Given the description of an element on the screen output the (x, y) to click on. 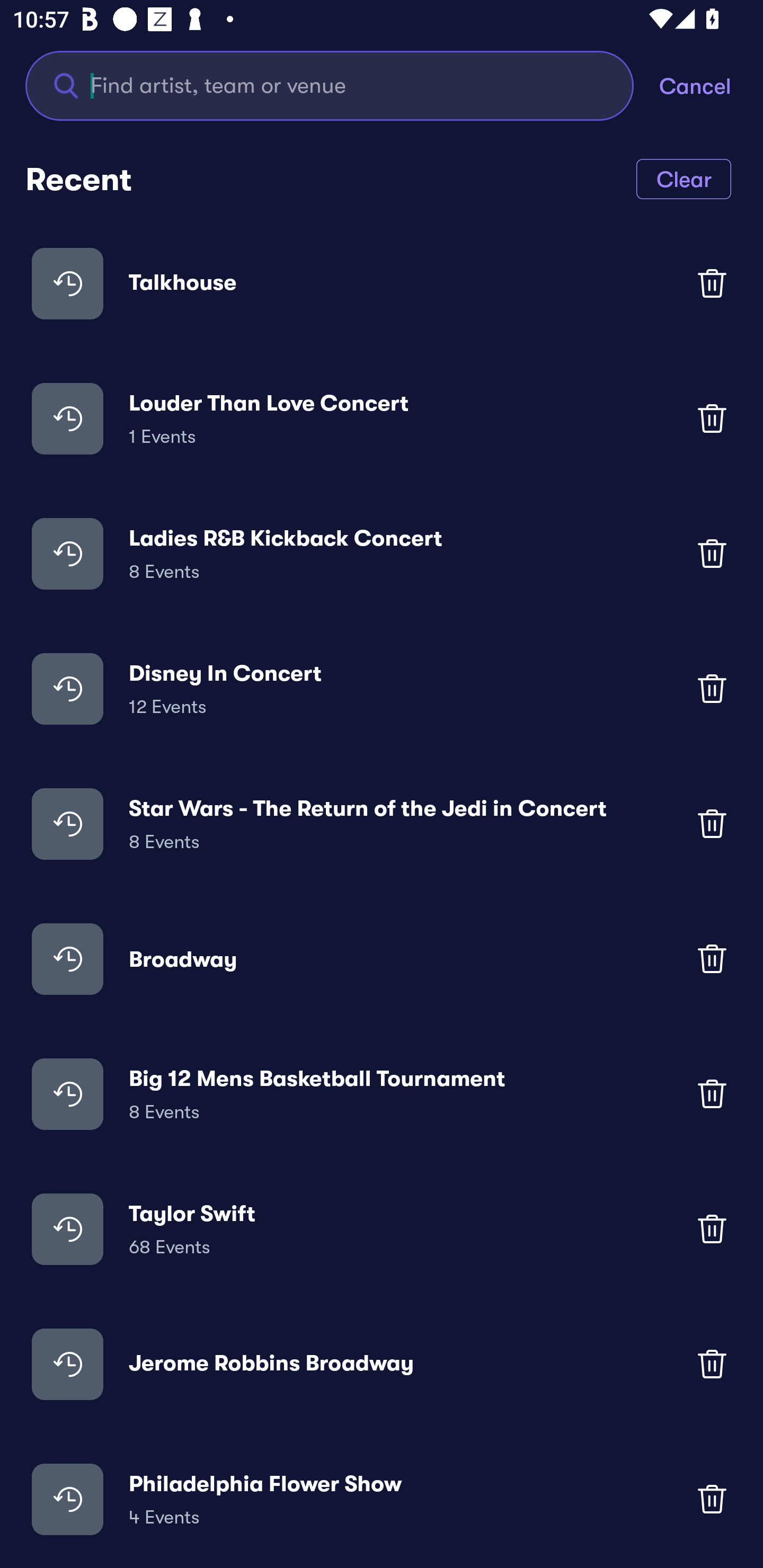
Cancel (711, 85)
Find artist, team or venue Find (329, 85)
Find artist, team or venue Find (341, 85)
Clear (683, 178)
Talkhouse (381, 282)
Louder Than Love Concert 1 Events (381, 417)
Ladies R&B Kickback Concert 8 Events (381, 553)
Disney In Concert 12 Events (381, 688)
Broadway (381, 958)
Big 12 Mens Basketball Tournament 8 Events (381, 1093)
Taylor Swift 68 Events (381, 1228)
Jerome Robbins Broadway (381, 1364)
Philadelphia Flower Show 4 Events (381, 1498)
